Given the description of an element on the screen output the (x, y) to click on. 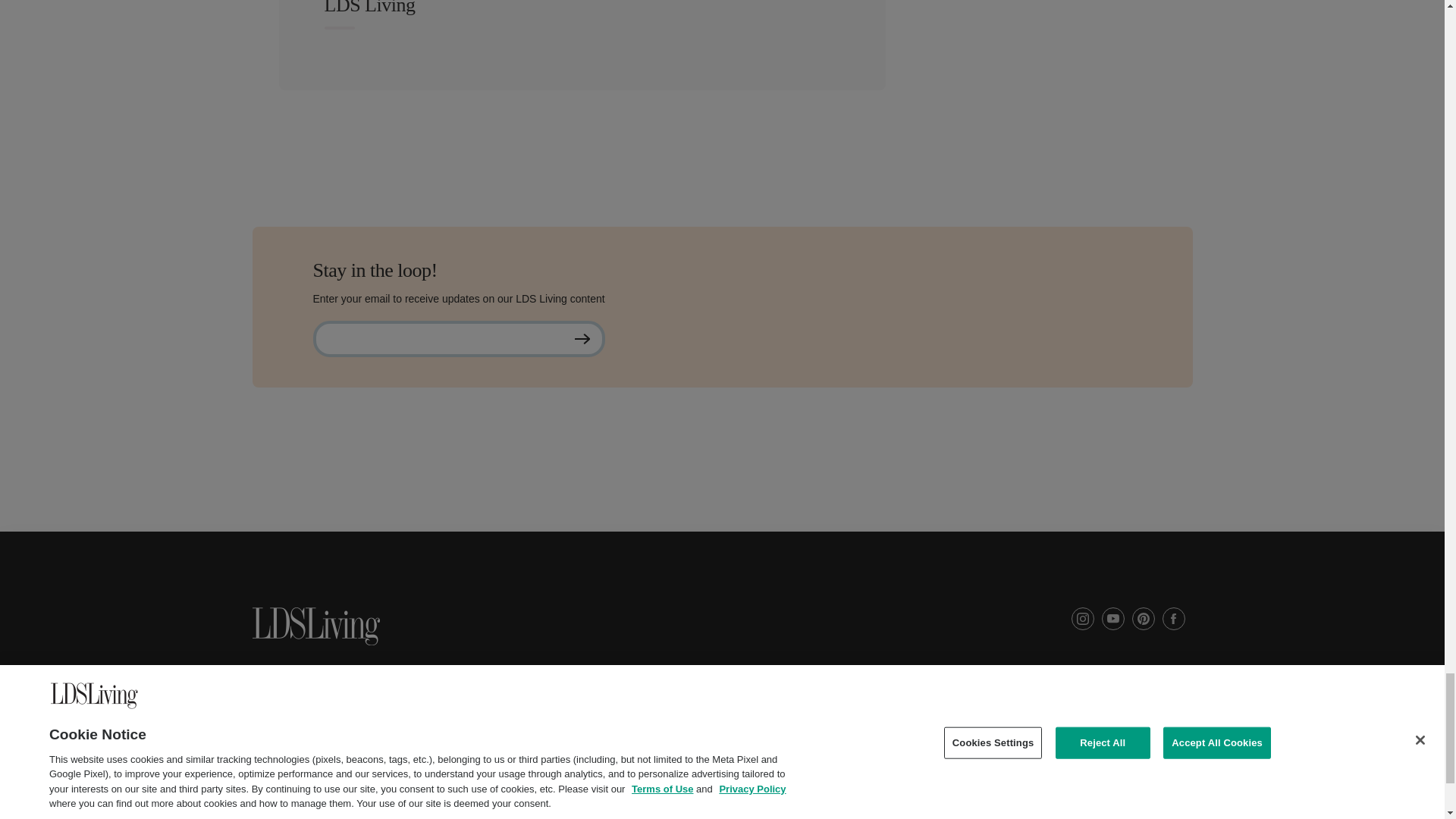
3rd party ad content (721, 497)
